Given the description of an element on the screen output the (x, y) to click on. 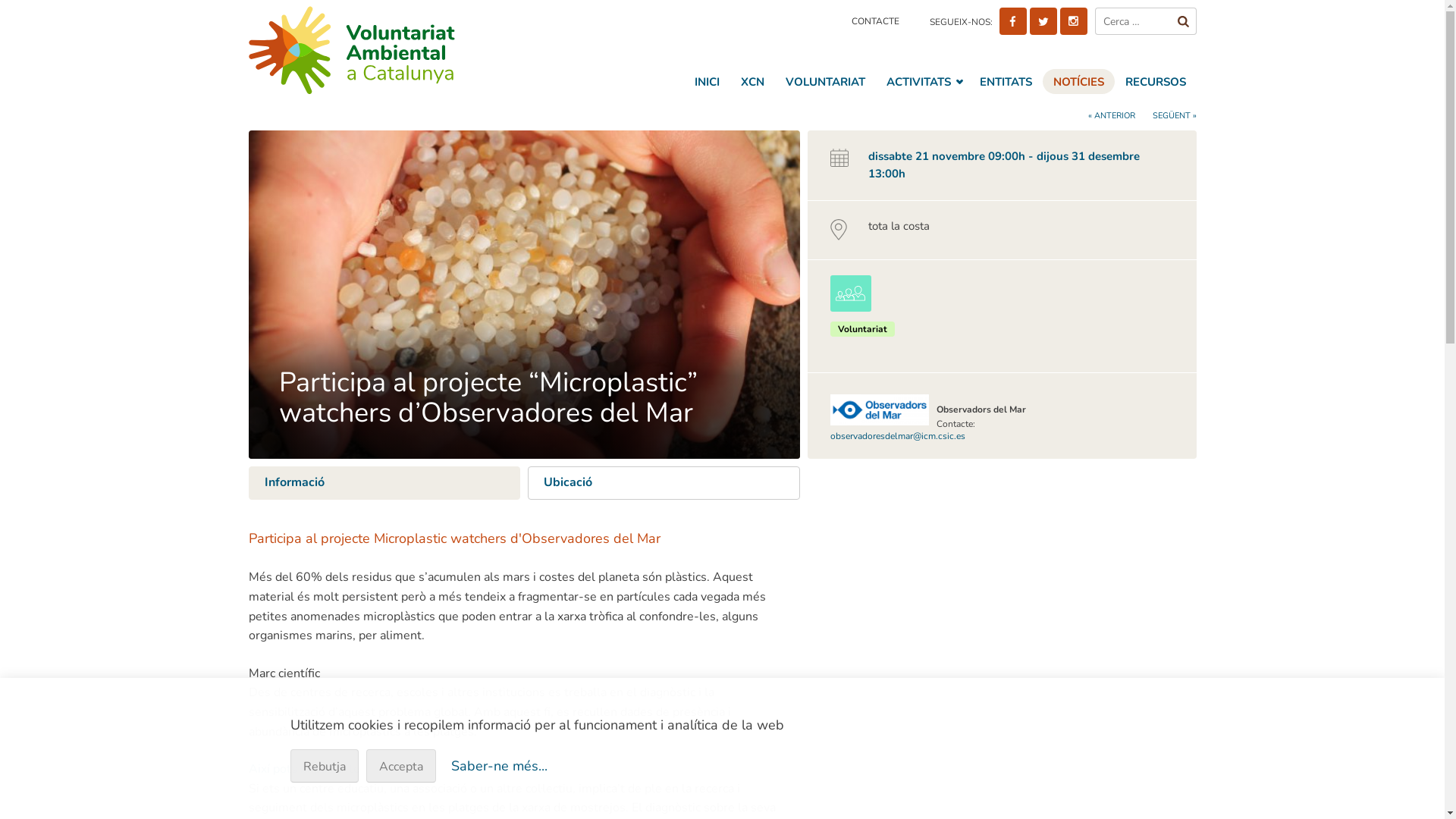
Voluntariat Element type: text (862, 328)
Twitter Element type: text (1043, 20)
Instagram Element type: text (1073, 20)
INICI Element type: text (707, 81)
VOLUNTARIAT Element type: text (825, 81)
Cerca Element type: text (1183, 20)
ACTIVITATS Element type: text (921, 81)
Facebook Element type: text (1012, 20)
observadoresdelmar@icm.csic.es Element type: text (897, 435)
ENTITATS Element type: text (1005, 81)
Voluntariat ambiental Element type: text (381, 50)
XCN Element type: text (751, 81)
CONTACTE Element type: text (874, 21)
RECURSOS Element type: text (1155, 81)
Rebutja Element type: text (323, 765)
Accepta Element type: text (400, 765)
Tothom Element type: text (850, 293)
